Given the description of an element on the screen output the (x, y) to click on. 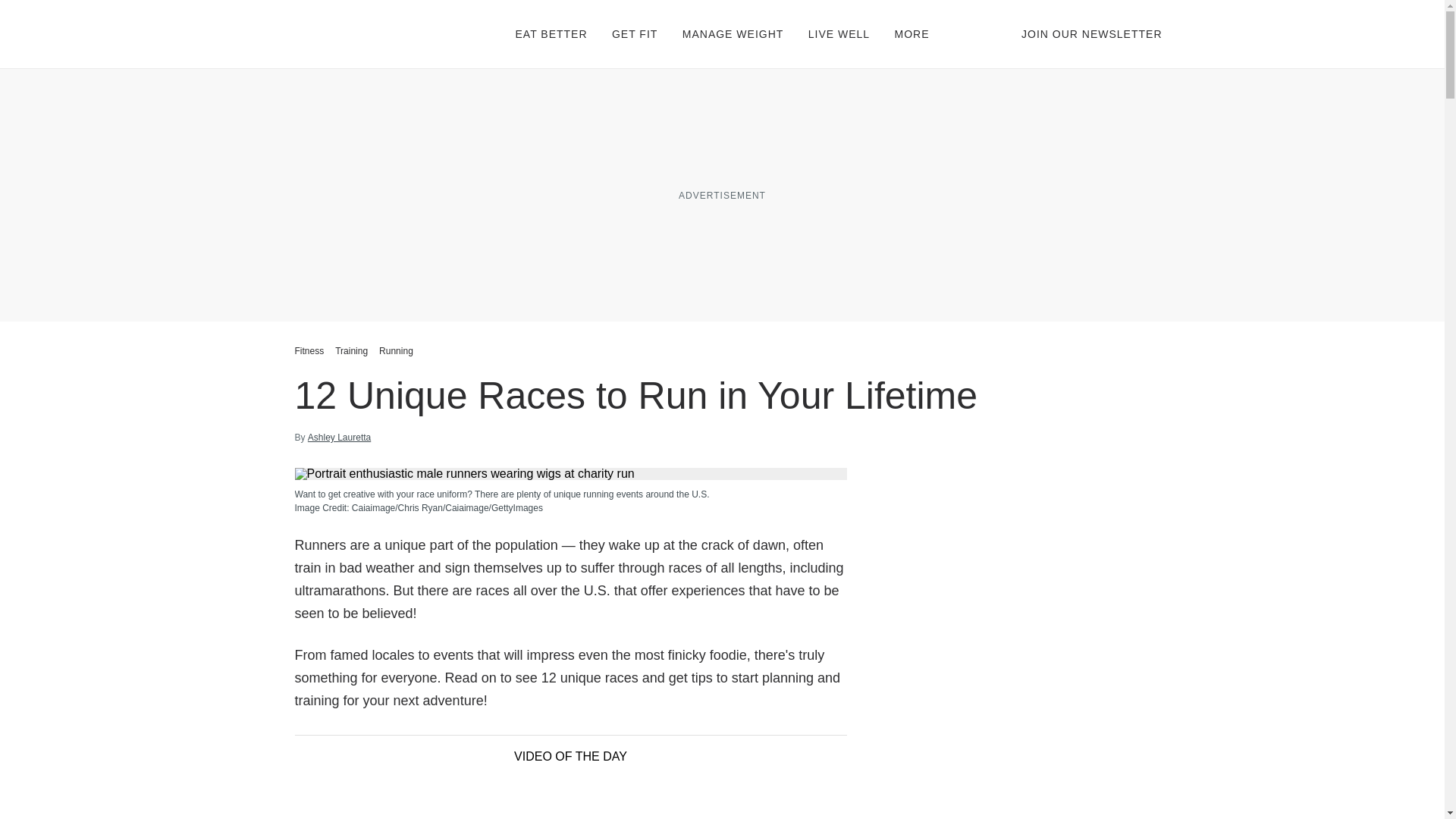
LIVE WELL (838, 33)
EAT BETTER (551, 33)
Training (351, 350)
GET FIT (634, 33)
Ashley Lauretta (339, 437)
MANAGE WEIGHT (733, 33)
JOIN OUR NEWSLETTER (1091, 33)
Fitness (310, 350)
Running (395, 350)
